Given the description of an element on the screen output the (x, y) to click on. 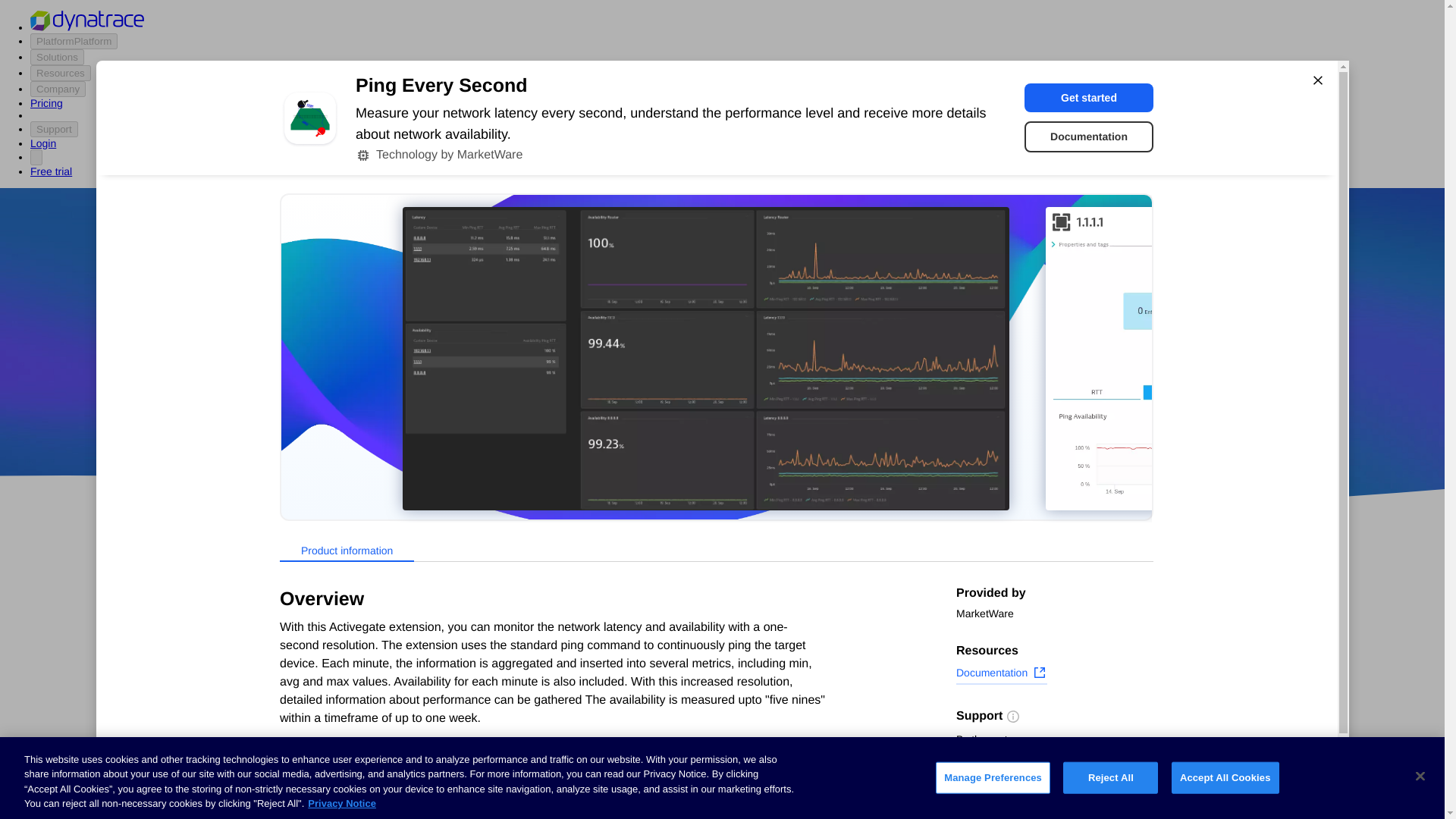
Advanced SSL Certificate Check for Dynatrace (606, 722)
Get data into Dynatrace (325, 641)
DevOps (829, 418)
Google Cloud (751, 418)
Open source (903, 418)
Kubernetes (295, 755)
Hub home (291, 583)
Request support (1005, 761)
Documentation (1089, 136)
Documentation (1001, 674)
